Given the description of an element on the screen output the (x, y) to click on. 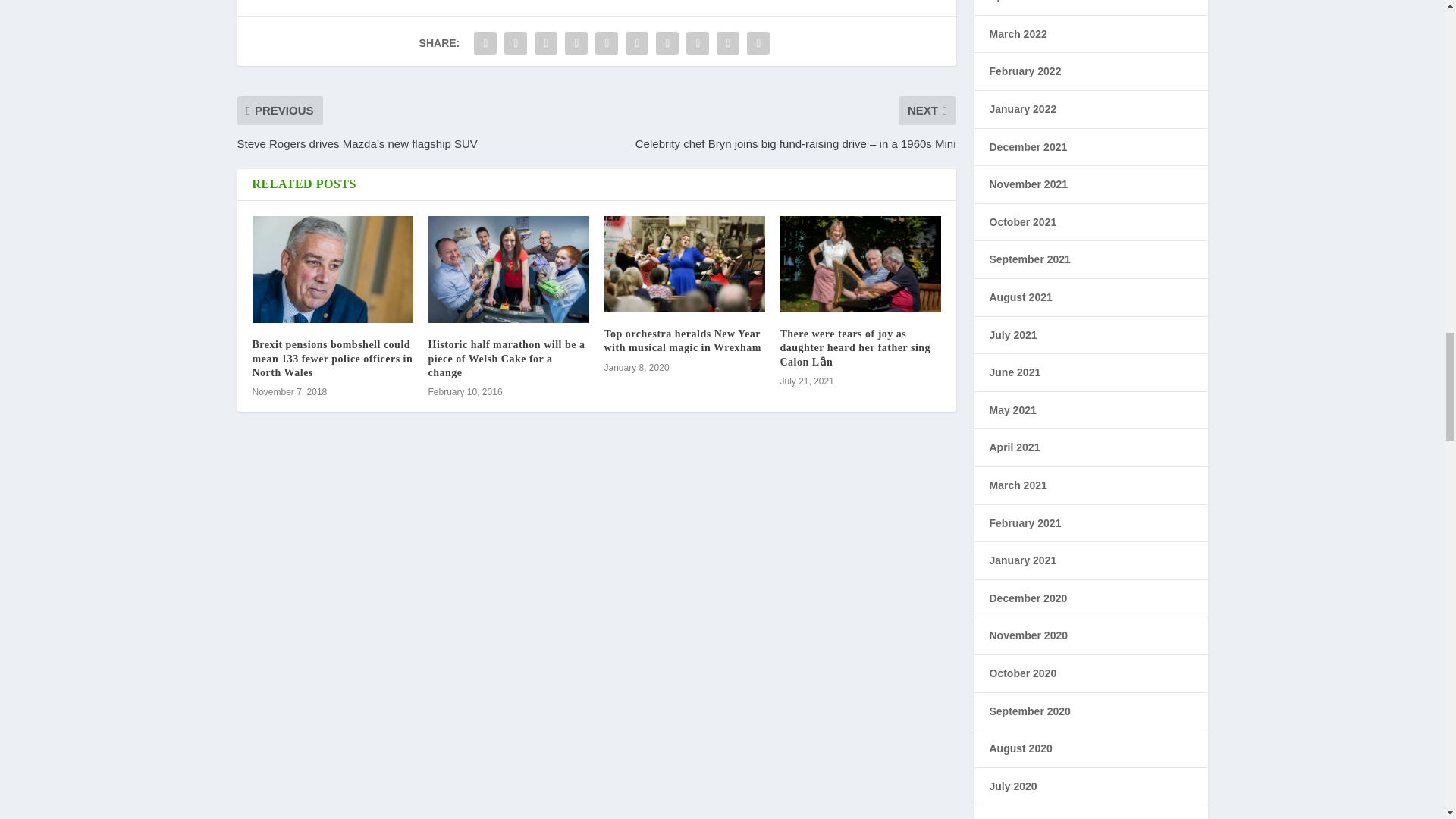
Share "Denbigh duo take on Welsh rally legend" via Email (727, 42)
Share "Denbigh duo take on Welsh rally legend" via Print (757, 42)
Share "Denbigh duo take on Welsh rally legend" via Buffer (667, 42)
Share "Denbigh duo take on Welsh rally legend" via Pinterest (606, 42)
Top orchestra heralds New Year with musical magic in Wrexham (682, 340)
